Given the description of an element on the screen output the (x, y) to click on. 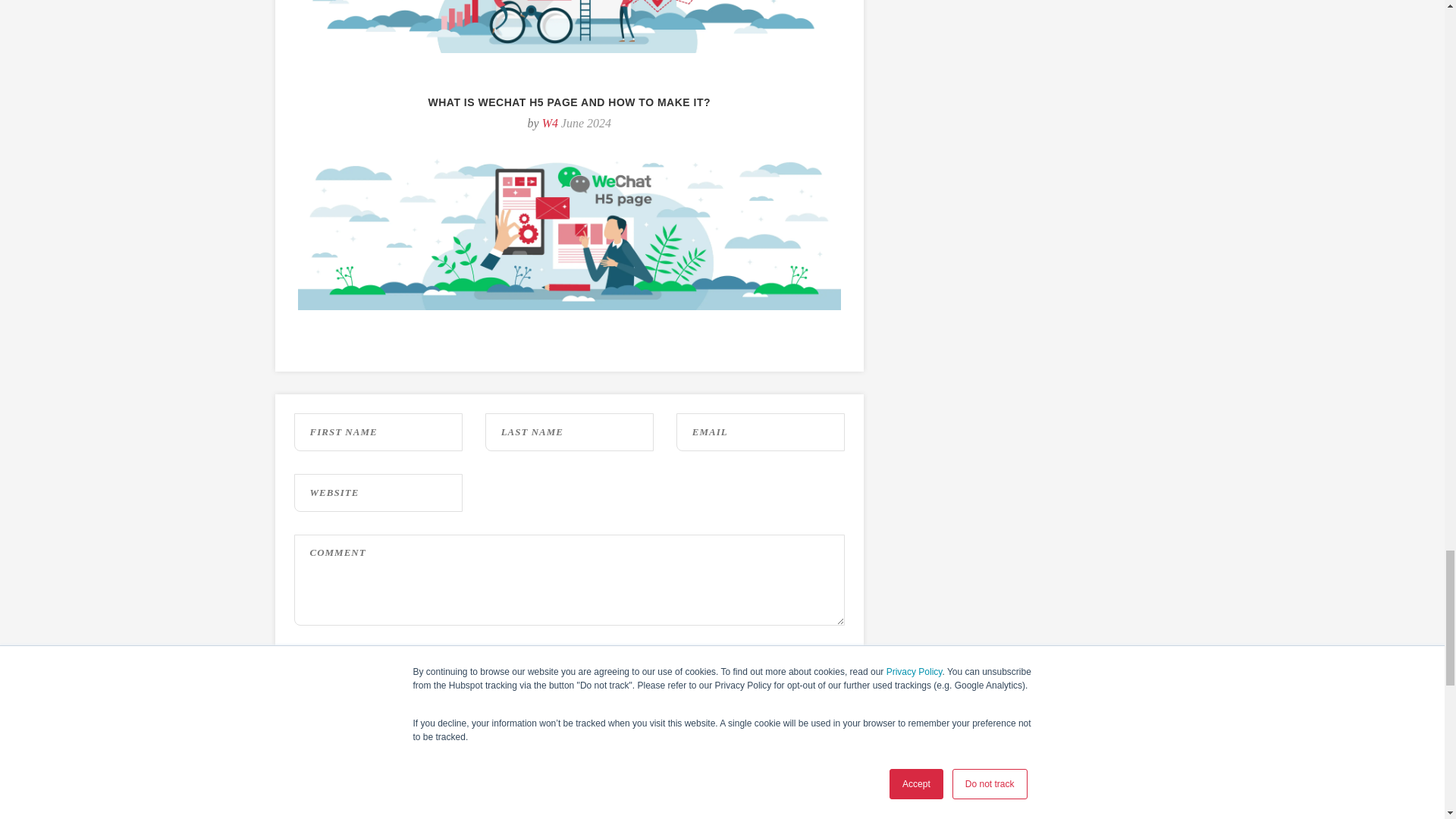
Submit Comment (569, 696)
W4 (549, 123)
Submit Comment (569, 696)
WHAT IS WECHAT H5 PAGE AND HOW TO MAKE IT? (569, 102)
